Given the description of an element on the screen output the (x, y) to click on. 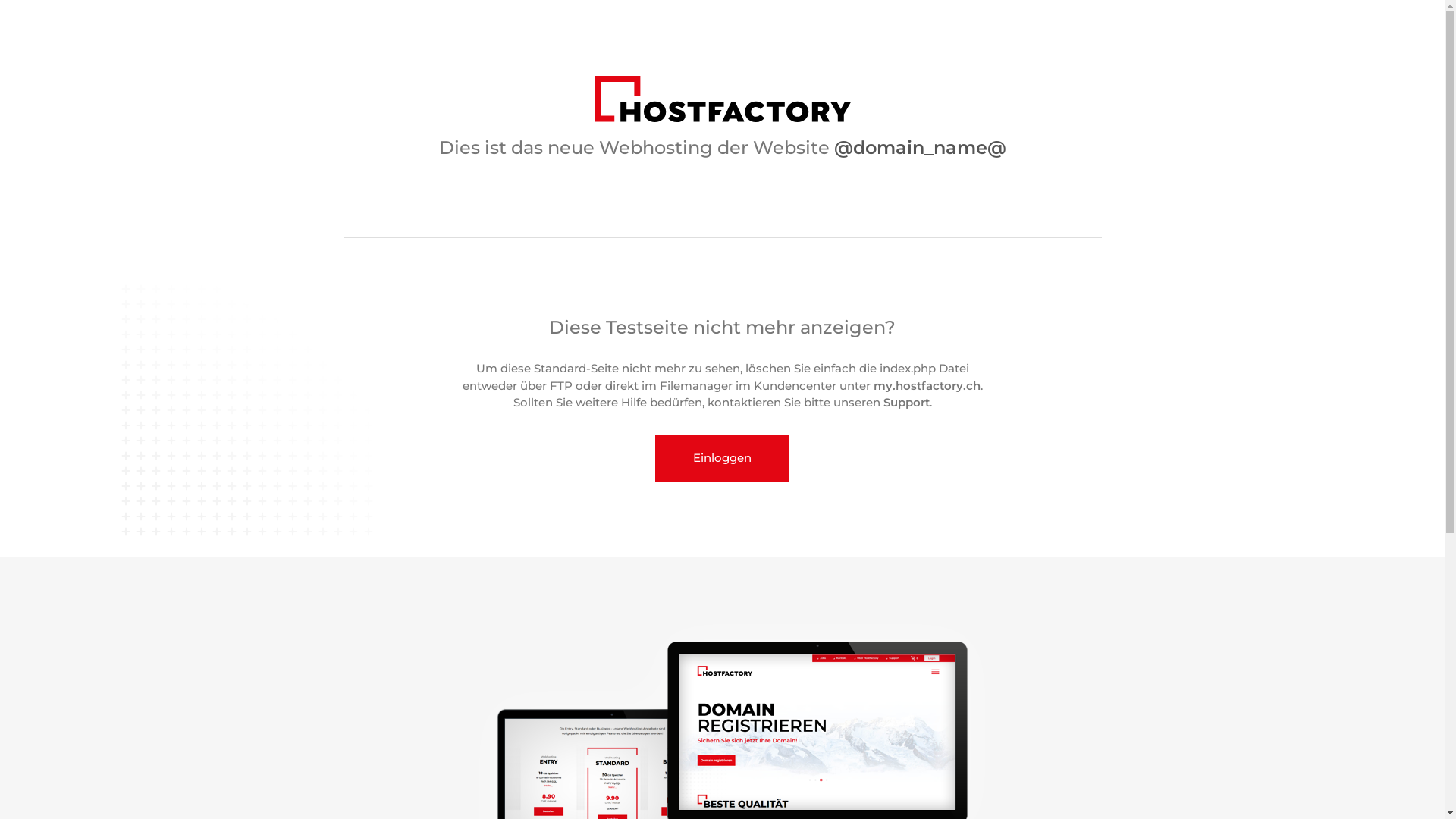
Support Element type: text (905, 402)
my.hostfactory.ch Element type: text (926, 385)
Einloggen Element type: text (722, 458)
@domain_name@ Element type: text (920, 147)
